Given the description of an element on the screen output the (x, y) to click on. 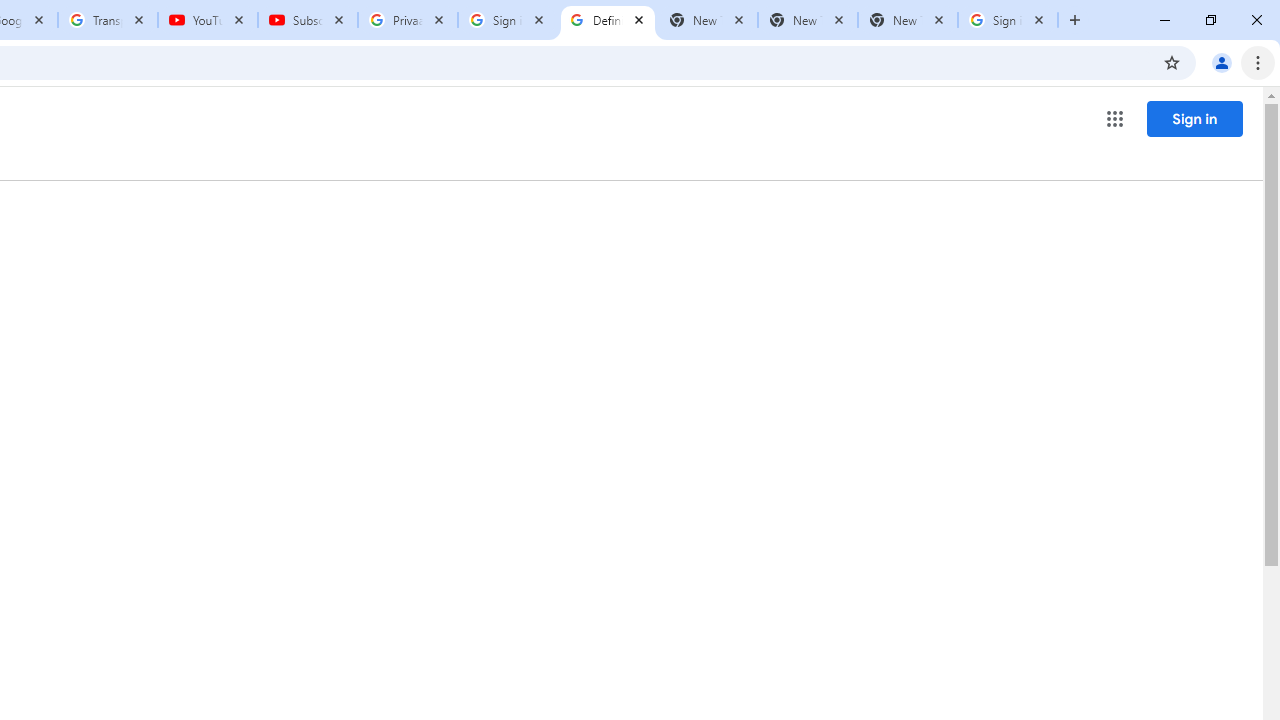
New Tab (907, 20)
